Given the description of an element on the screen output the (x, y) to click on. 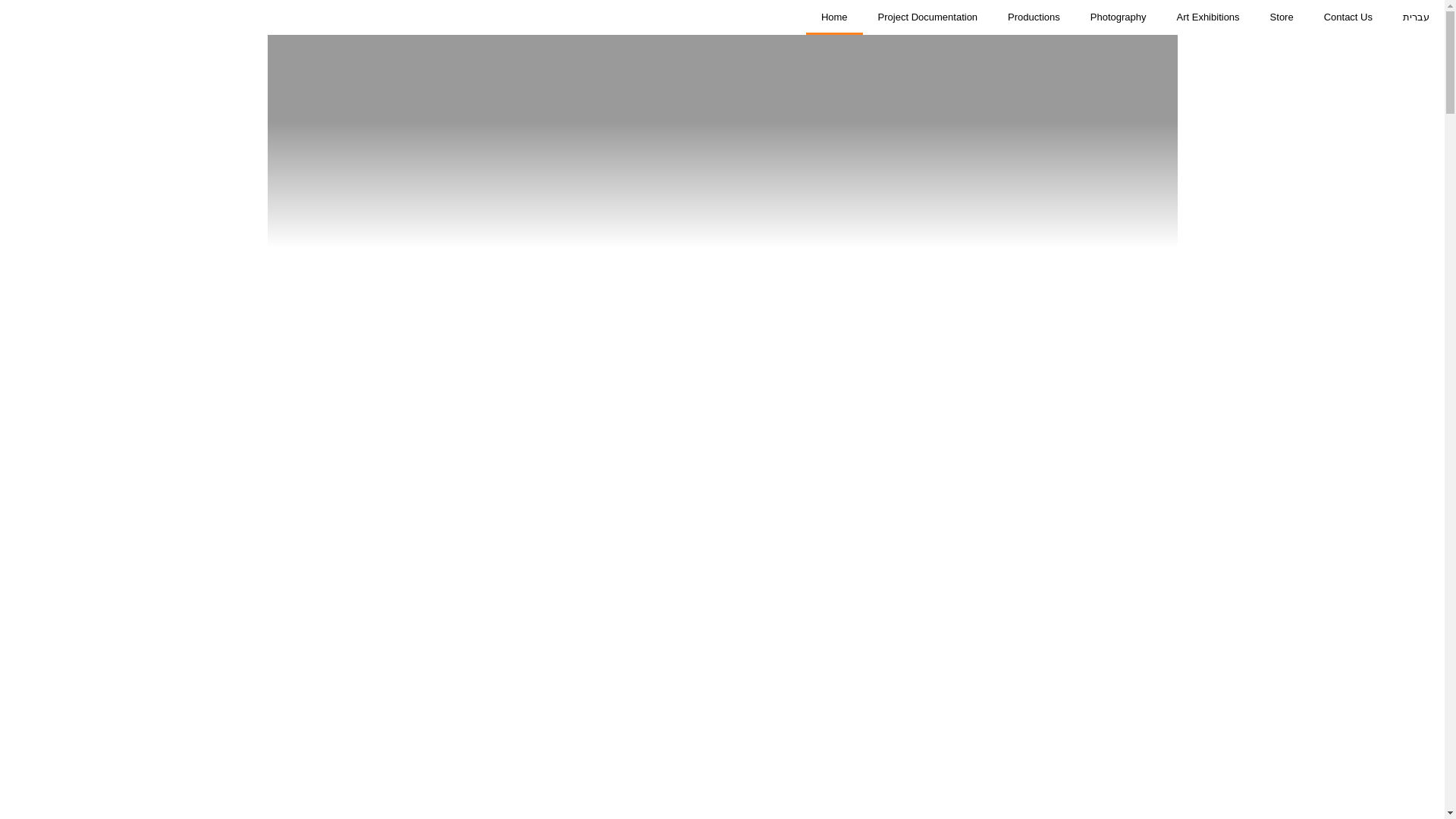
Contact Us (1347, 17)
Home (834, 17)
Project Documentation (927, 17)
Productions (1033, 17)
Photography (1118, 17)
Store (1281, 17)
Art Exhibitions (1208, 17)
